Given the description of an element on the screen output the (x, y) to click on. 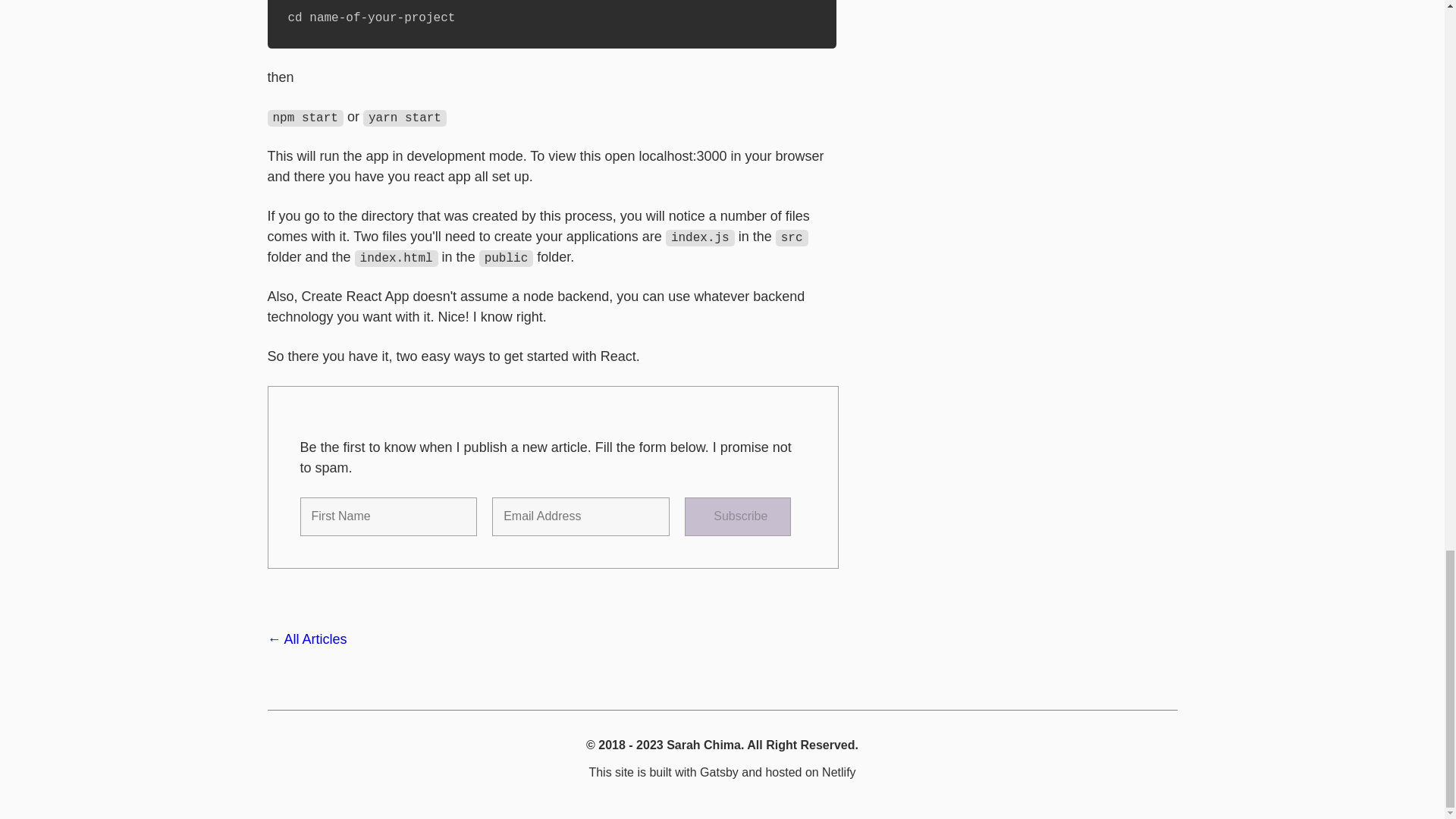
Subscribe (737, 516)
Subscribe (737, 516)
